Given the description of an element on the screen output the (x, y) to click on. 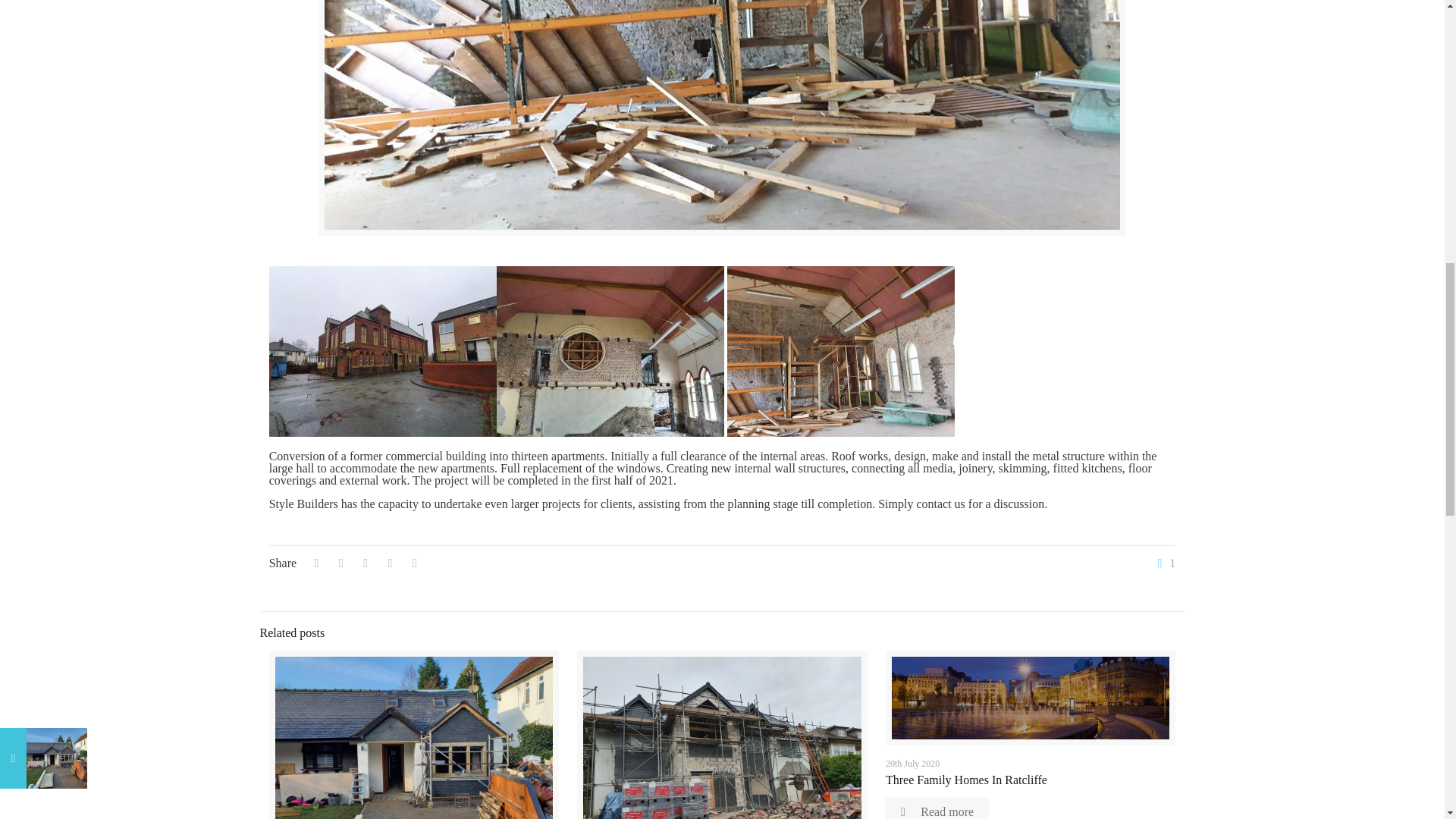
Three Family Homes In Ratcliffe (965, 779)
1 (1162, 563)
Read more (936, 808)
